Given the description of an element on the screen output the (x, y) to click on. 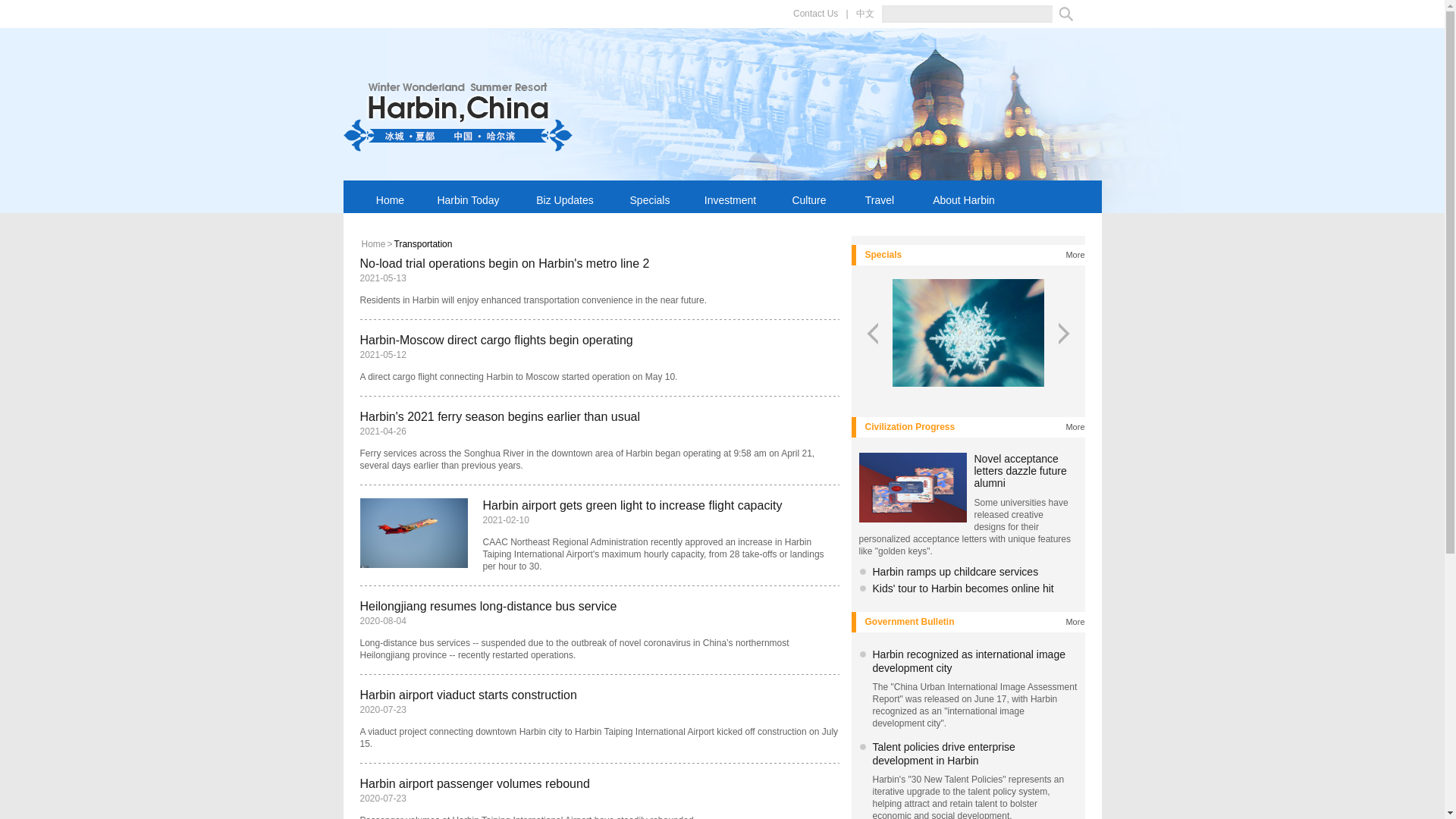
Harbin's 2021 ferry season begins earlier than usual (499, 416)
Investment (730, 196)
Home (373, 243)
Harbin airport passenger volumes rebound (474, 783)
Heilongjiang resumes long-distance bus service (487, 605)
Harbin airport viaduct starts construction (467, 694)
Harbin-Moscow direct cargo flights begin operating (495, 339)
Biz Updates (564, 196)
Harbin Today (468, 196)
Travel (879, 196)
Harbin airport gets green light to increase flight capacity (631, 504)
More (1074, 254)
Specials (648, 196)
About Harbin (962, 196)
Home (390, 196)
